Given the description of an element on the screen output the (x, y) to click on. 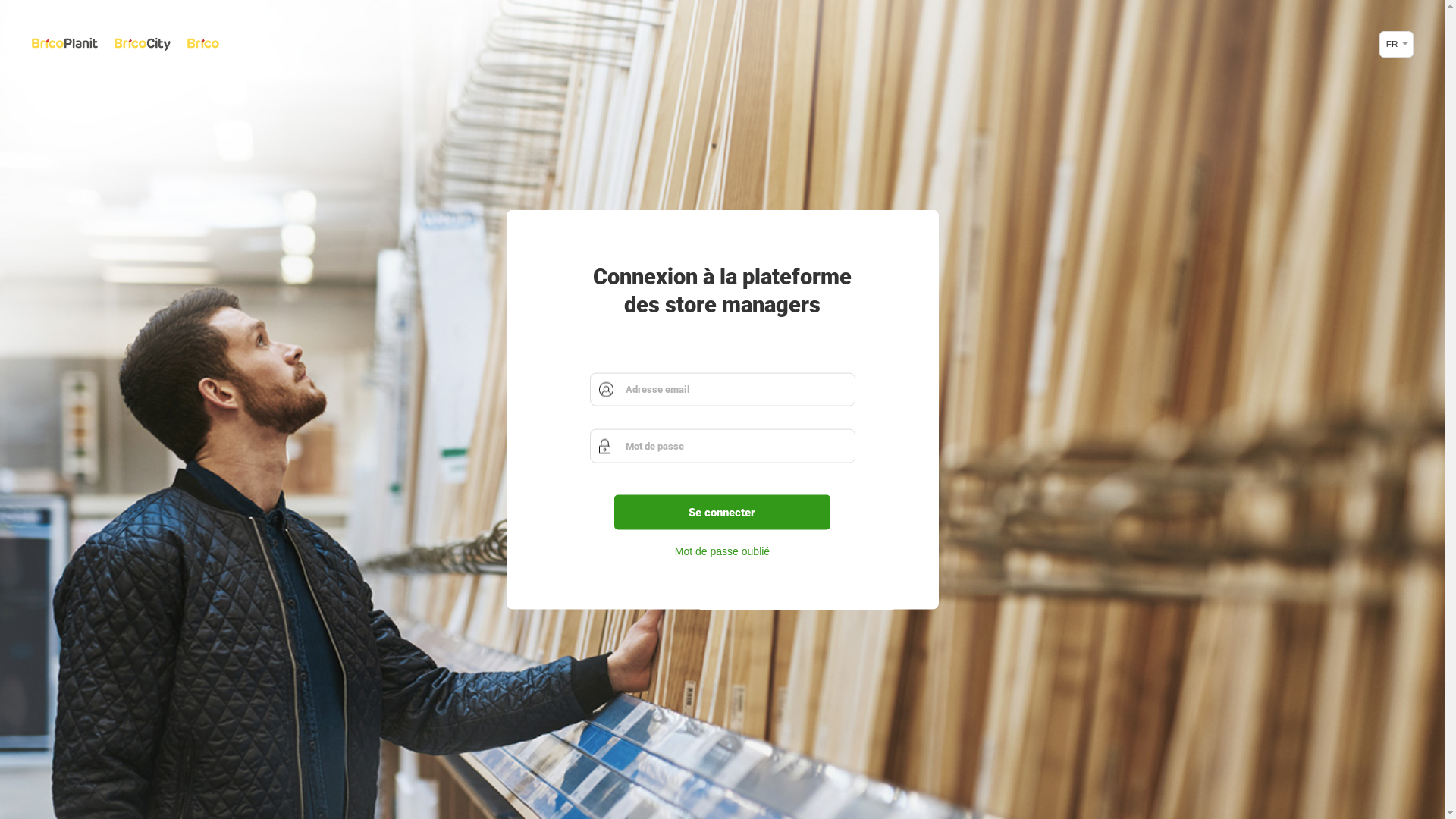
Se connecter Element type: text (722, 511)
